Given the description of an element on the screen output the (x, y) to click on. 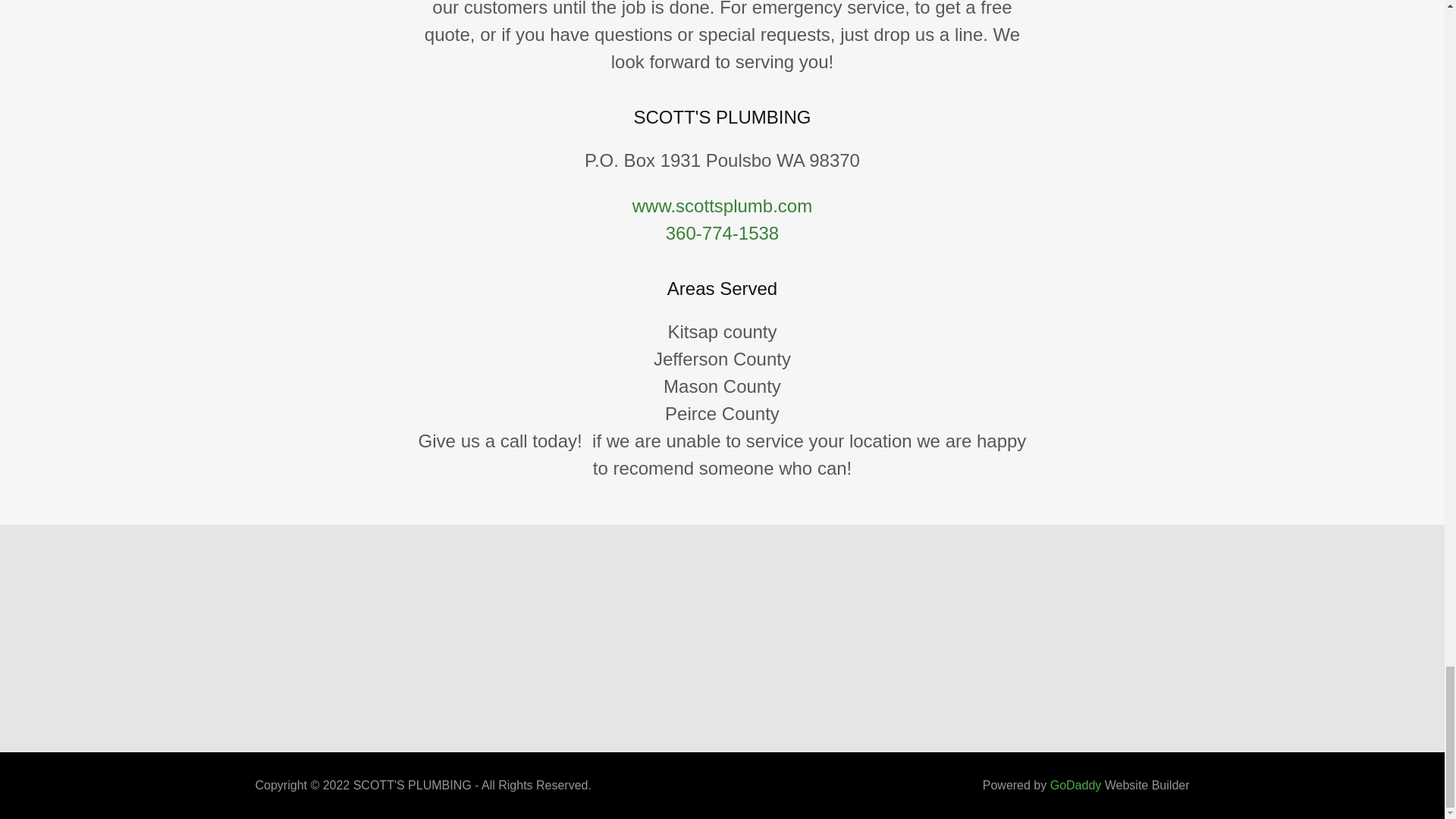
www.scottsplumb.com (721, 205)
360-774-1538 (721, 232)
GoDaddy (1075, 784)
